Given the description of an element on the screen output the (x, y) to click on. 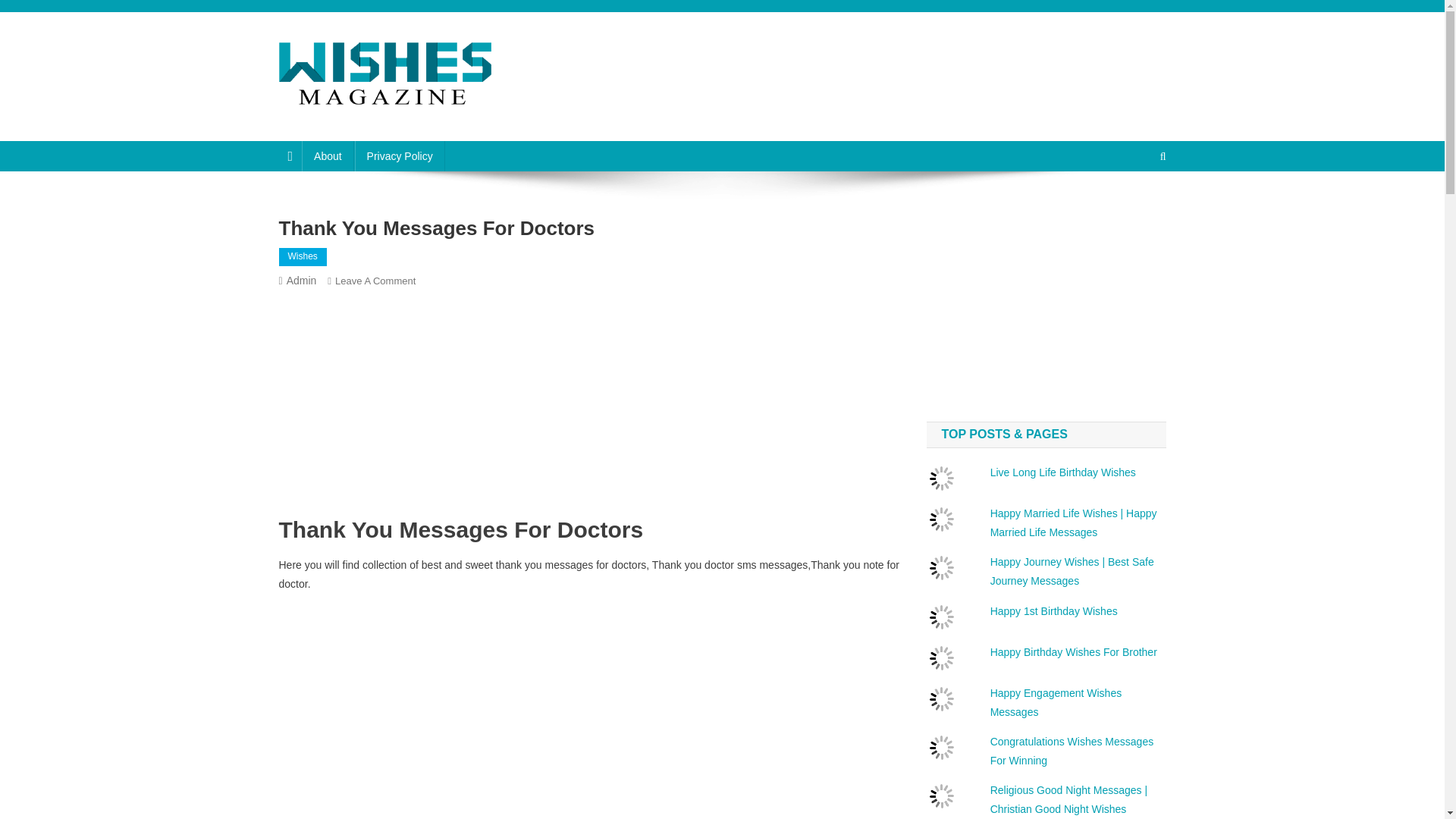
Admin (301, 280)
Congratulations Wishes Messages For Winning (1072, 750)
Search (1133, 206)
Happy Birthday Wishes For Brother (1073, 652)
Live Long Life Birthday Wishes (1062, 472)
Wishes (302, 257)
Live Long Life Birthday Wishes (1062, 472)
Advertisement (374, 280)
Advertisement (1046, 303)
Happy Engagement Wishes Messages (589, 408)
Privacy Policy (1056, 702)
Happy 1st Birthday Wishes (400, 155)
Wishes Magazine (1054, 611)
About (379, 125)
